Given the description of an element on the screen output the (x, y) to click on. 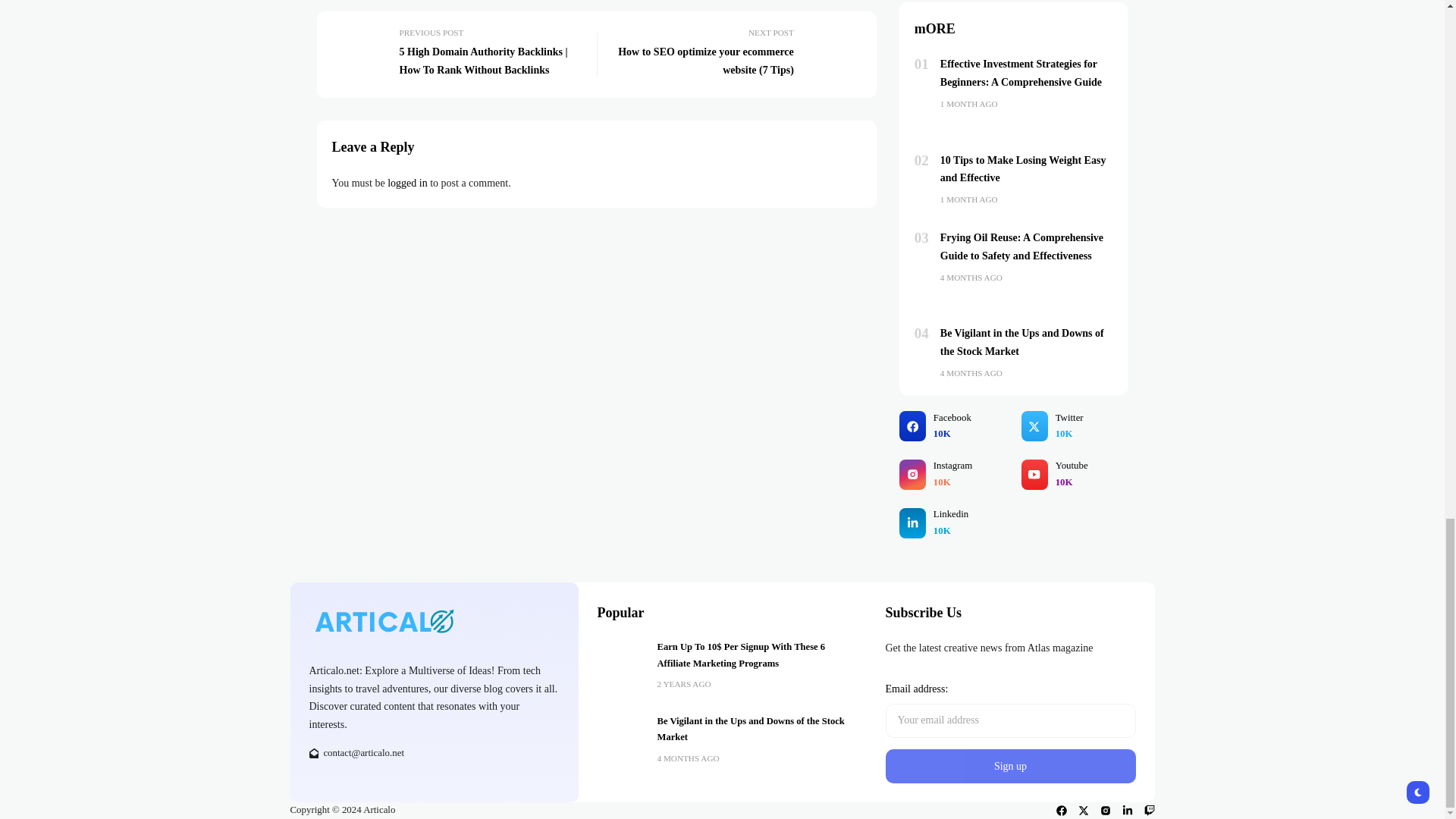
Sign up (1010, 765)
